Given the description of an element on the screen output the (x, y) to click on. 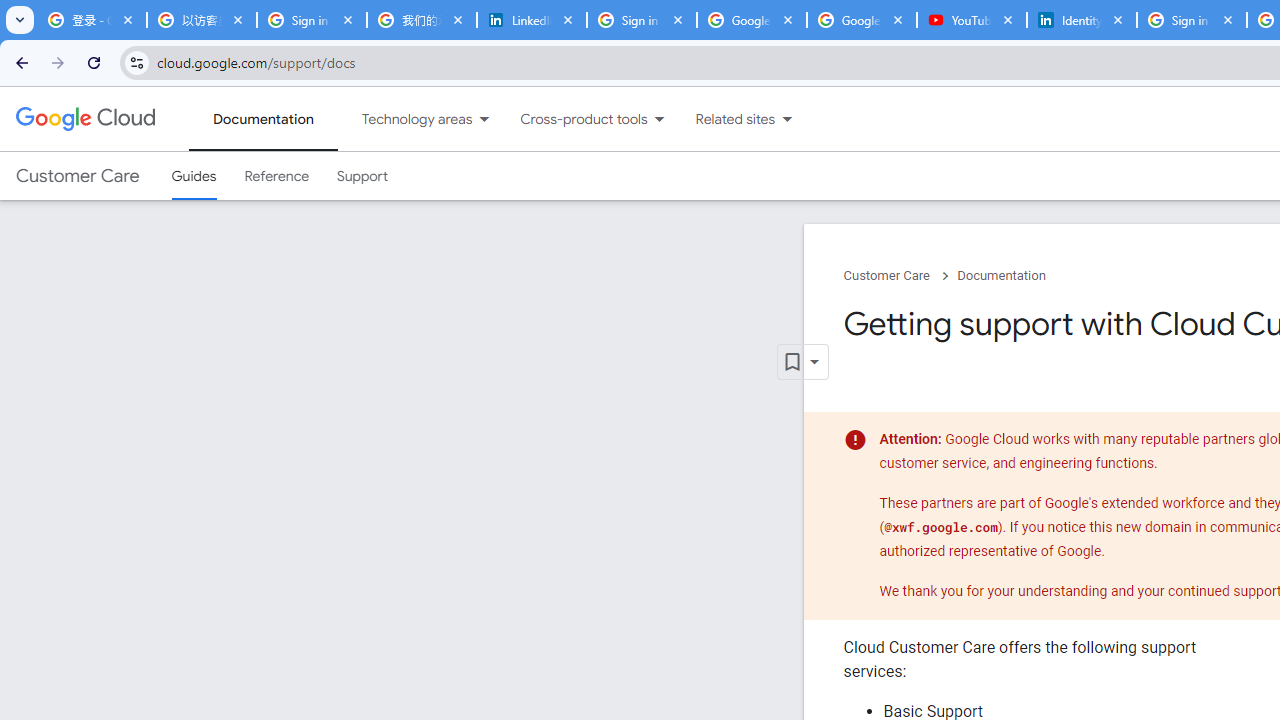
Identity verification via Persona | LinkedIn Help (1081, 20)
Sign in - Google Accounts (642, 20)
LinkedIn Privacy Policy (532, 20)
Dropdown menu for Related sites (787, 119)
Dropdown menu for Cross-product tools (659, 119)
Open dropdown (802, 362)
Customer Care chevron_right (900, 276)
Guides, selected (193, 175)
Support (362, 175)
Customer Care (77, 175)
